Given the description of an element on the screen output the (x, y) to click on. 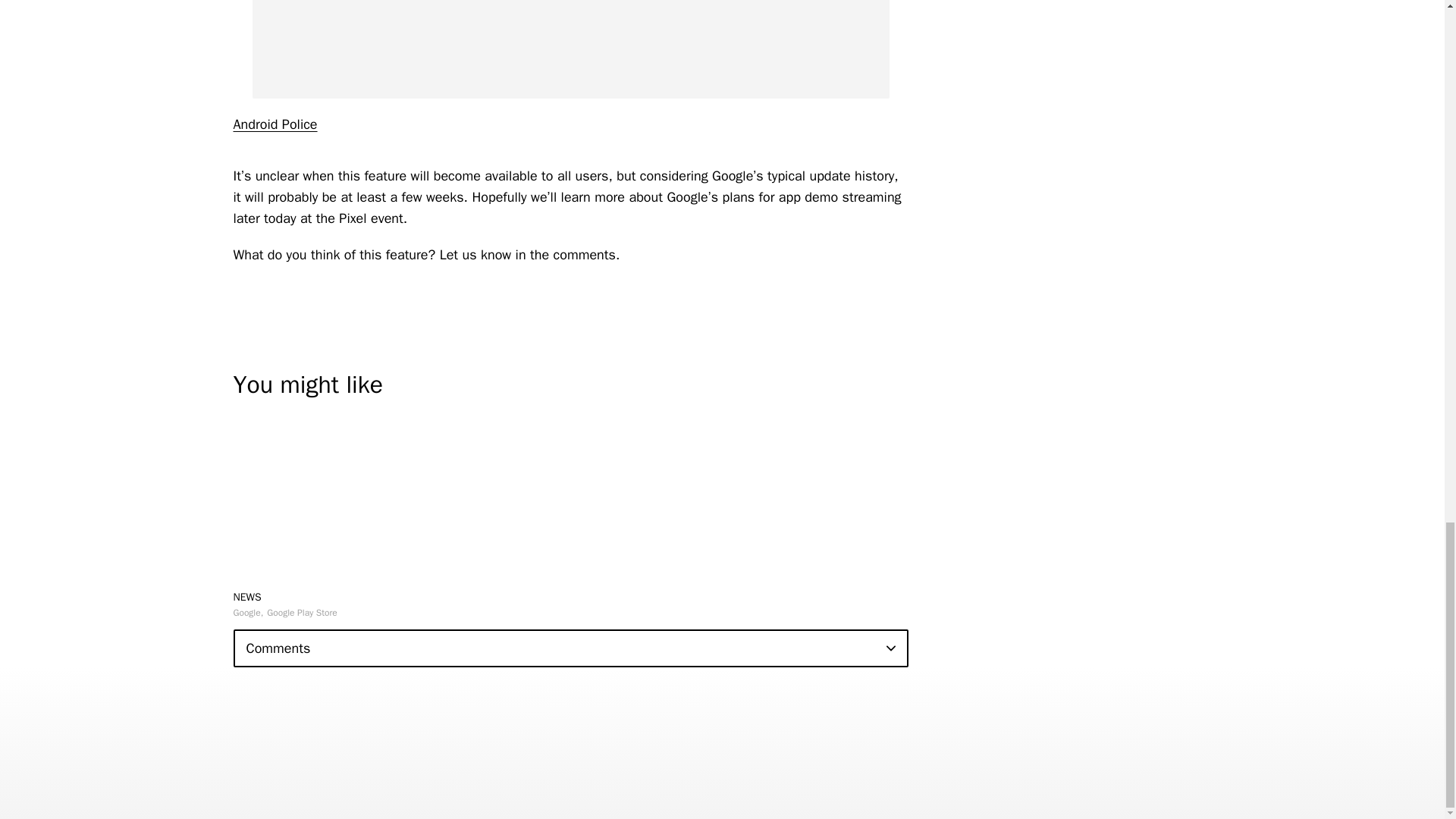
NEWS (247, 596)
google play streaming 2 (569, 49)
Google (247, 612)
Comments (570, 648)
Android Police (274, 124)
Google Play Store (301, 612)
